Given the description of an element on the screen output the (x, y) to click on. 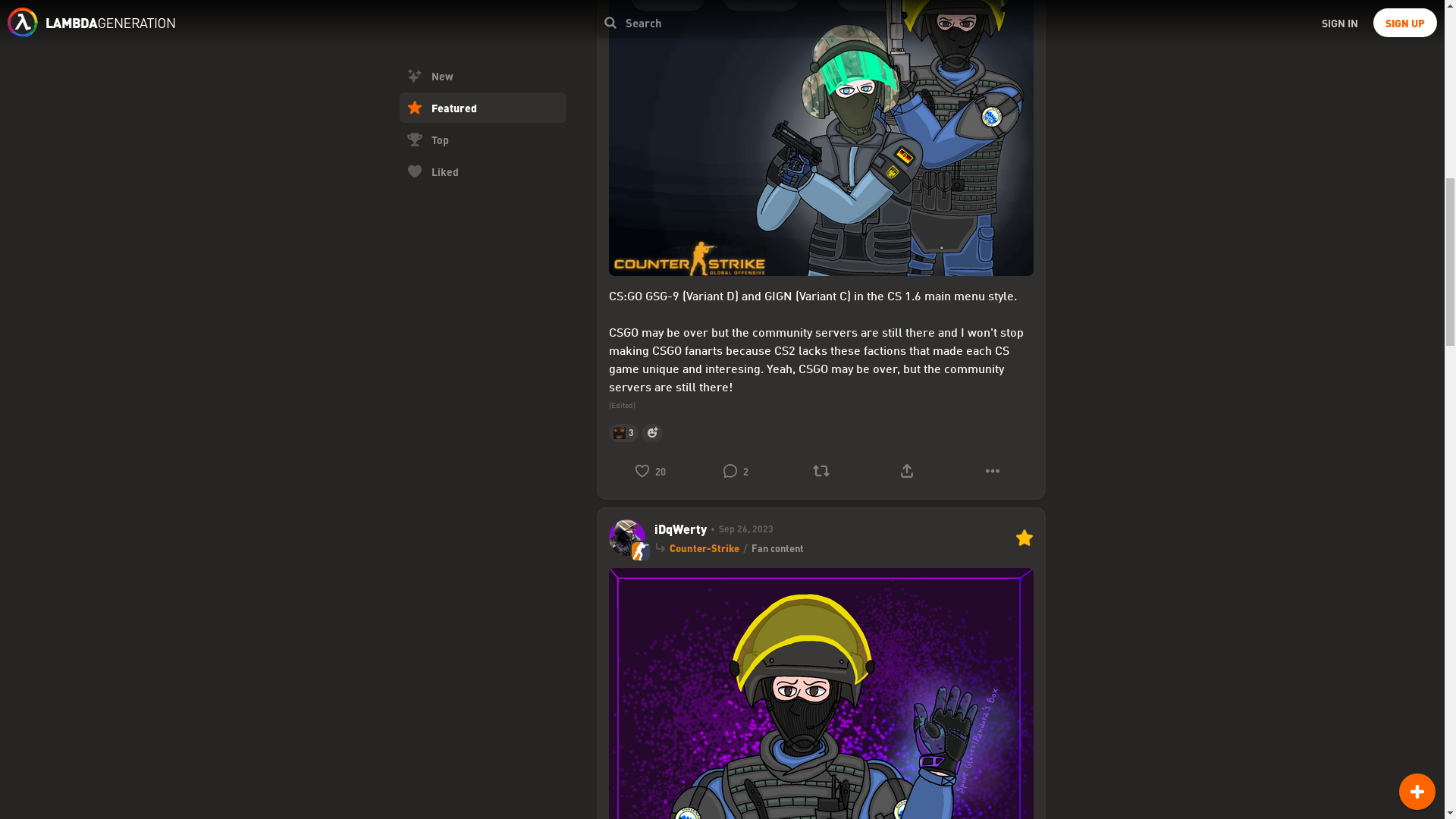
Fan content (777, 548)
2 (735, 470)
Sep 26, 2023 (739, 529)
iDqWerty (679, 529)
Counter-Strike (703, 548)
